Given the description of an element on the screen output the (x, y) to click on. 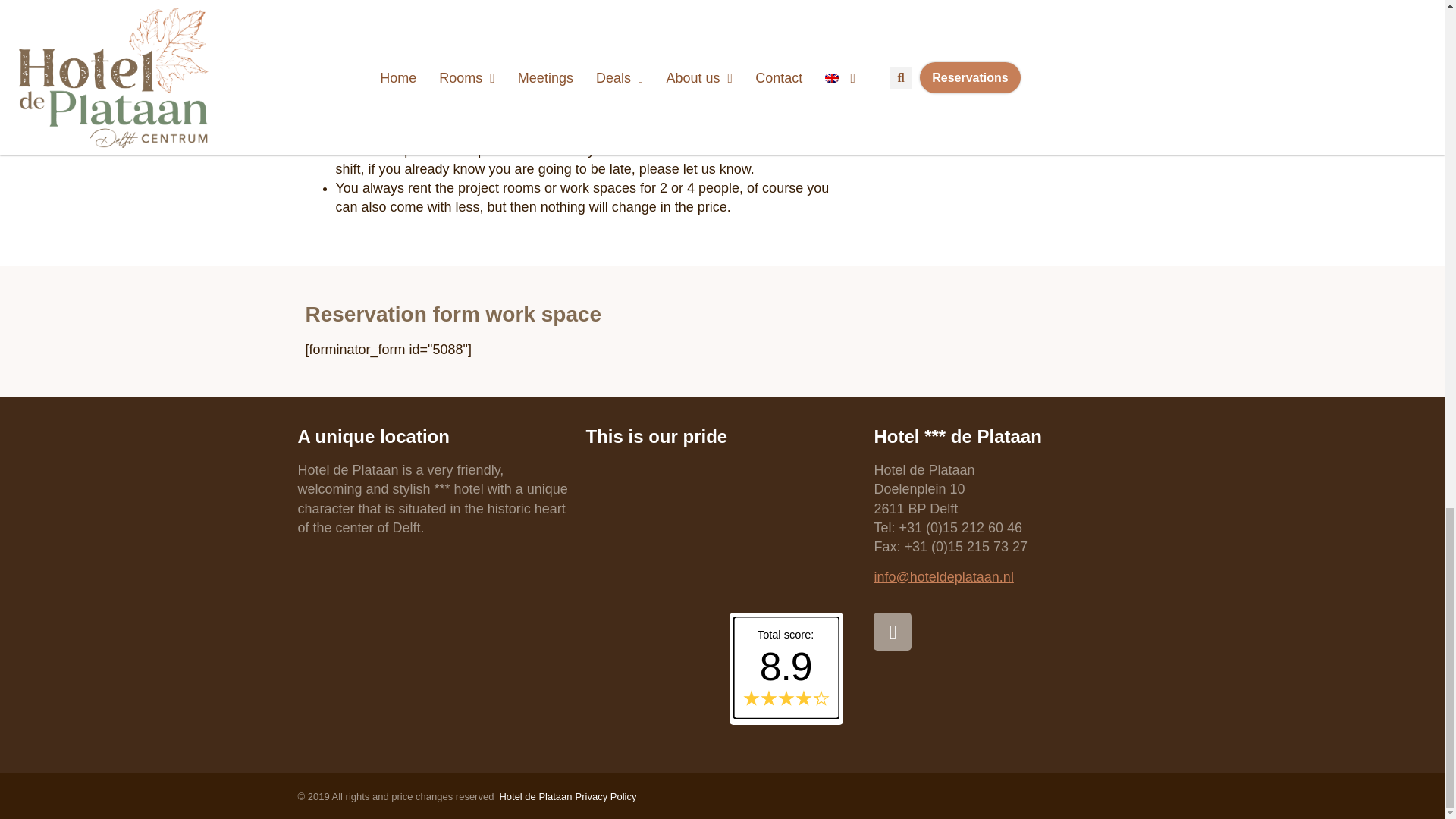
Hotel in Delft (606, 796)
Hotel in Delft (535, 796)
